Given the description of an element on the screen output the (x, y) to click on. 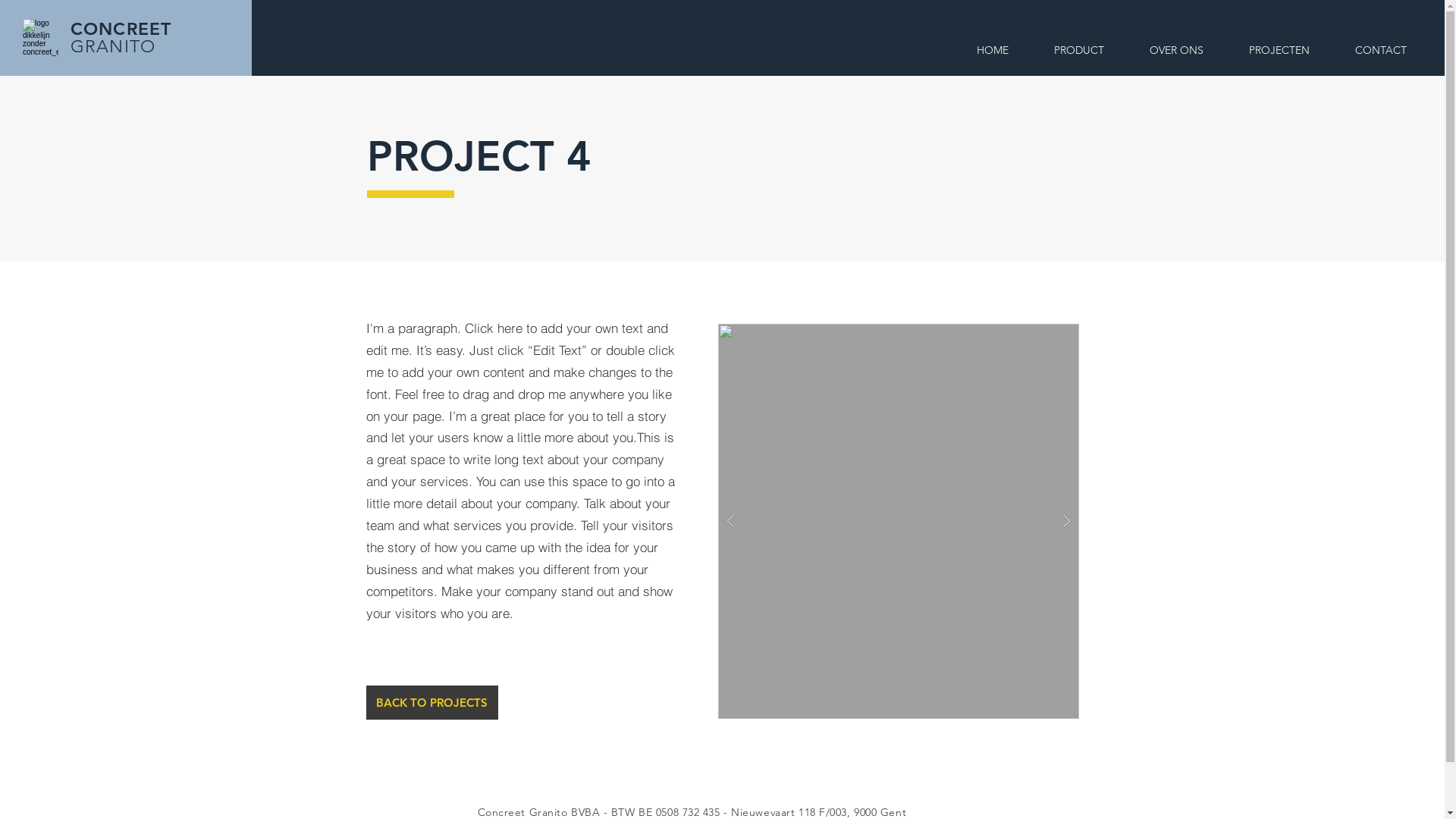
PRODUCT Element type: text (1078, 50)
GRANITO Element type: text (112, 46)
OVER ONS Element type: text (1176, 50)
CONTACT Element type: text (1380, 50)
PROJECTEN Element type: text (1279, 50)
HOME Element type: text (992, 50)
CONCREET Element type: text (120, 28)
BACK TO PROJECTS Element type: text (431, 702)
